Given the description of an element on the screen output the (x, y) to click on. 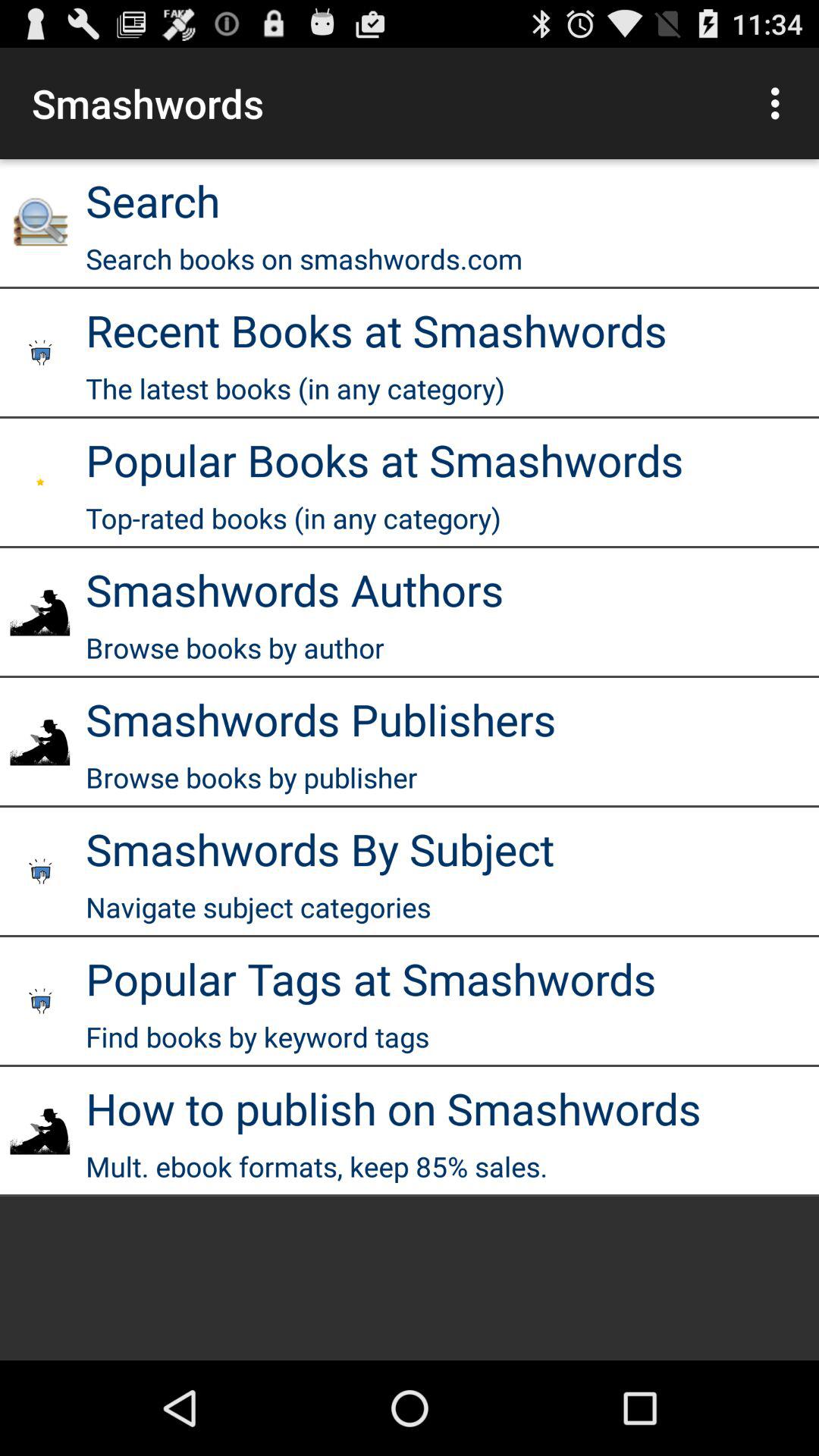
select app below the search (303, 258)
